Given the description of an element on the screen output the (x, y) to click on. 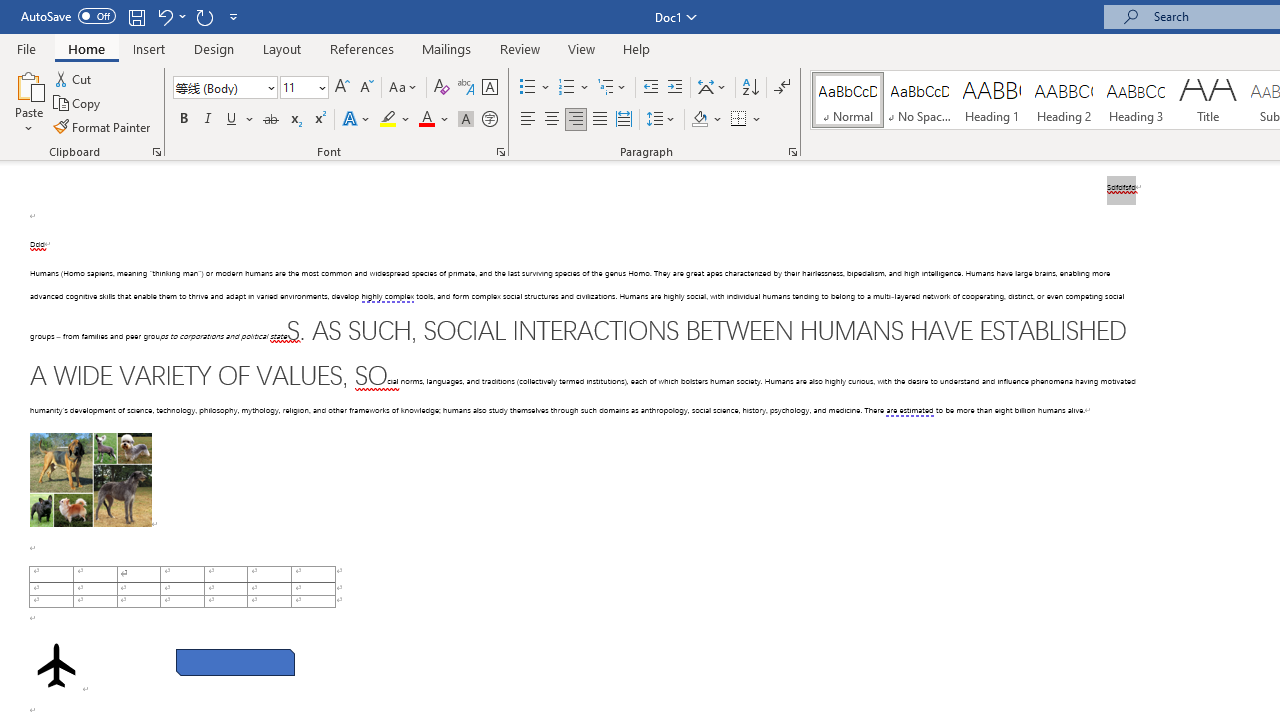
Multilevel List (613, 87)
Morphological variation in six dogs (90, 479)
Shading (706, 119)
Sort... (750, 87)
Heading 3 (1135, 100)
Show/Hide Editing Marks (781, 87)
Shading RGB(0, 0, 0) (699, 119)
Title (1208, 100)
Font... (500, 151)
Text Highlight Color (395, 119)
Decrease Indent (650, 87)
Shrink Font (365, 87)
Text Effects and Typography (357, 119)
